Given the description of an element on the screen output the (x, y) to click on. 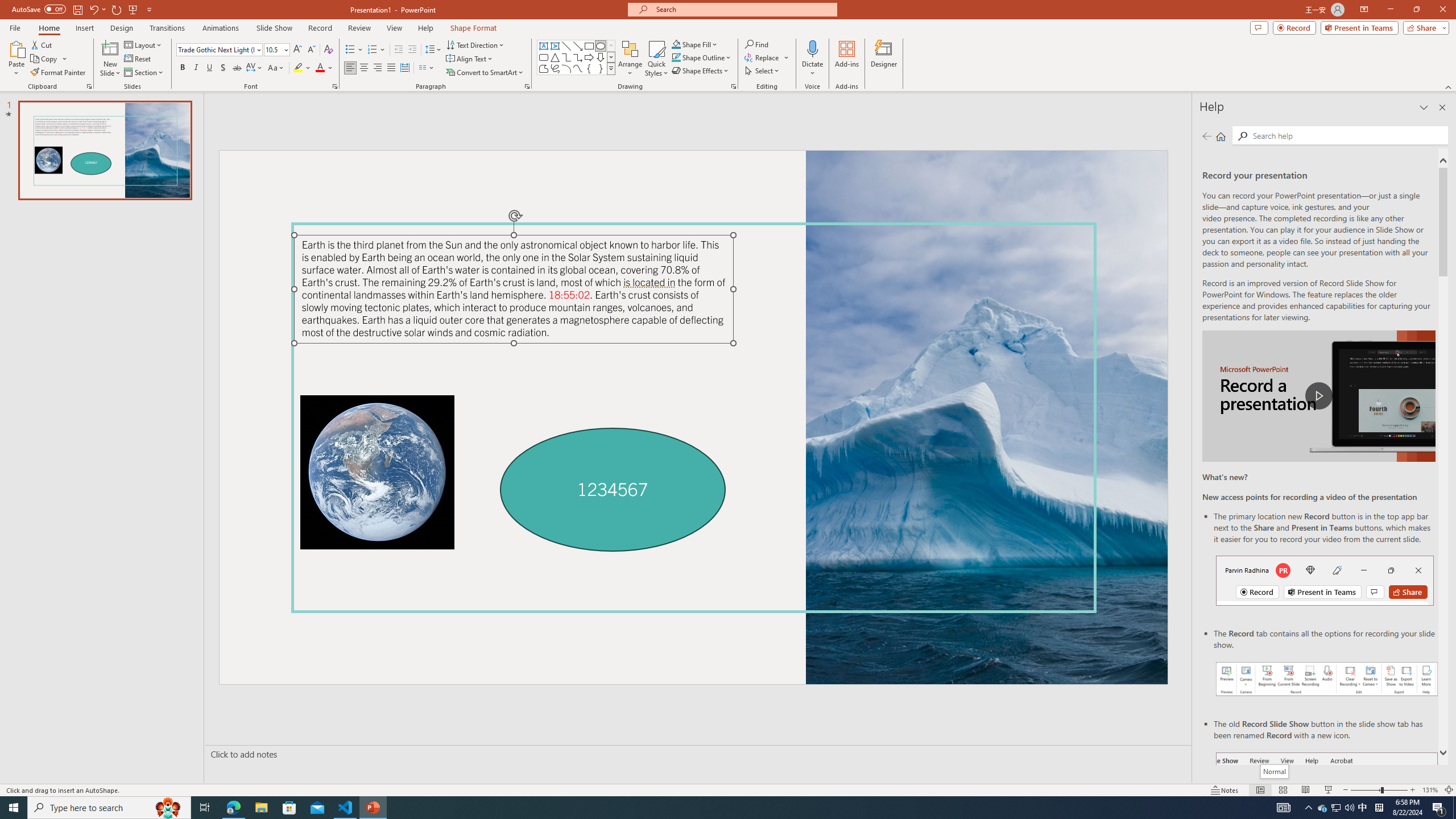
play Record a Presentation (1318, 395)
